Given the description of an element on the screen output the (x, y) to click on. 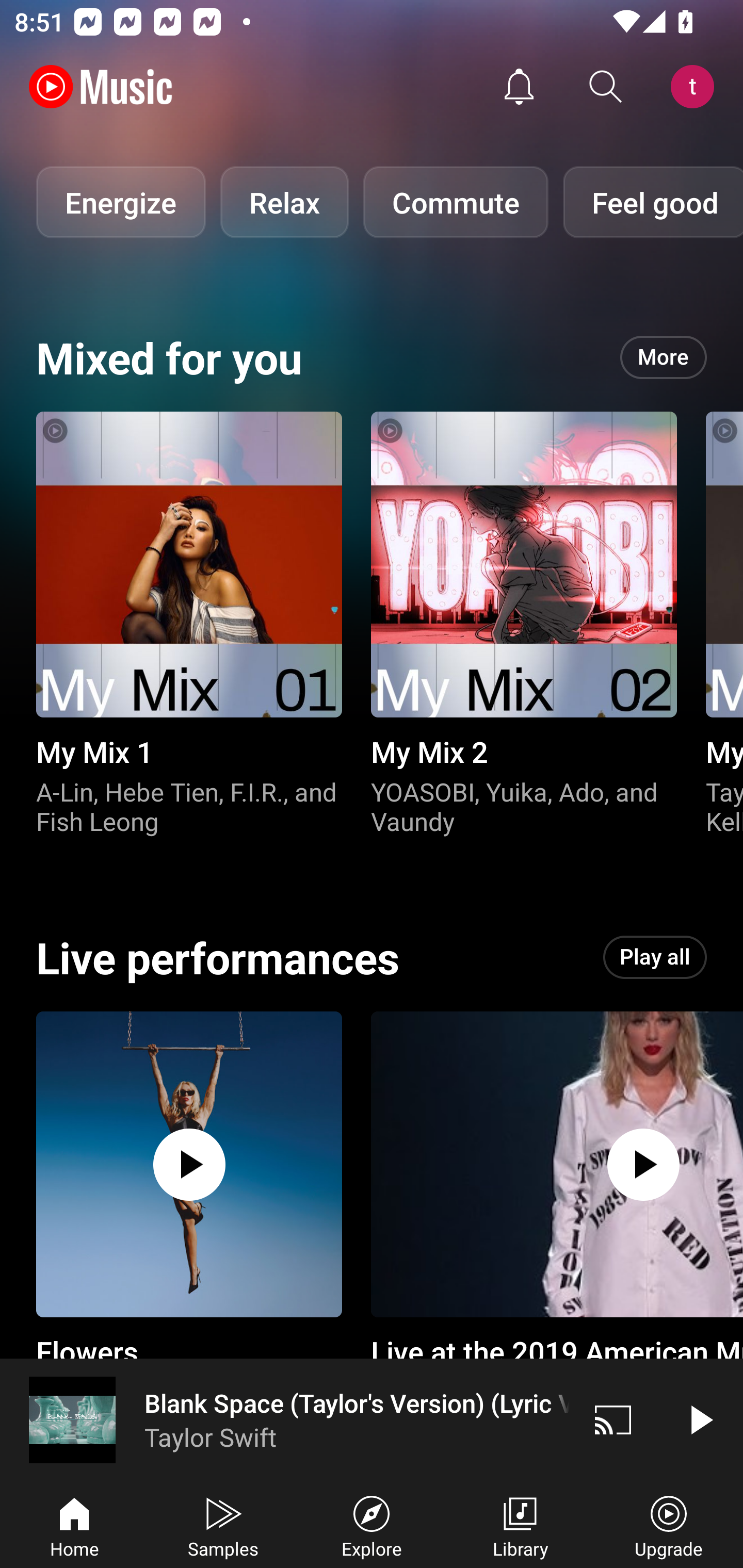
Activity feed (518, 86)
Search (605, 86)
Account (696, 86)
Cast. Disconnected (612, 1419)
Play video (699, 1419)
Home (74, 1524)
Samples (222, 1524)
Explore (371, 1524)
Library (519, 1524)
Upgrade (668, 1524)
